Given the description of an element on the screen output the (x, y) to click on. 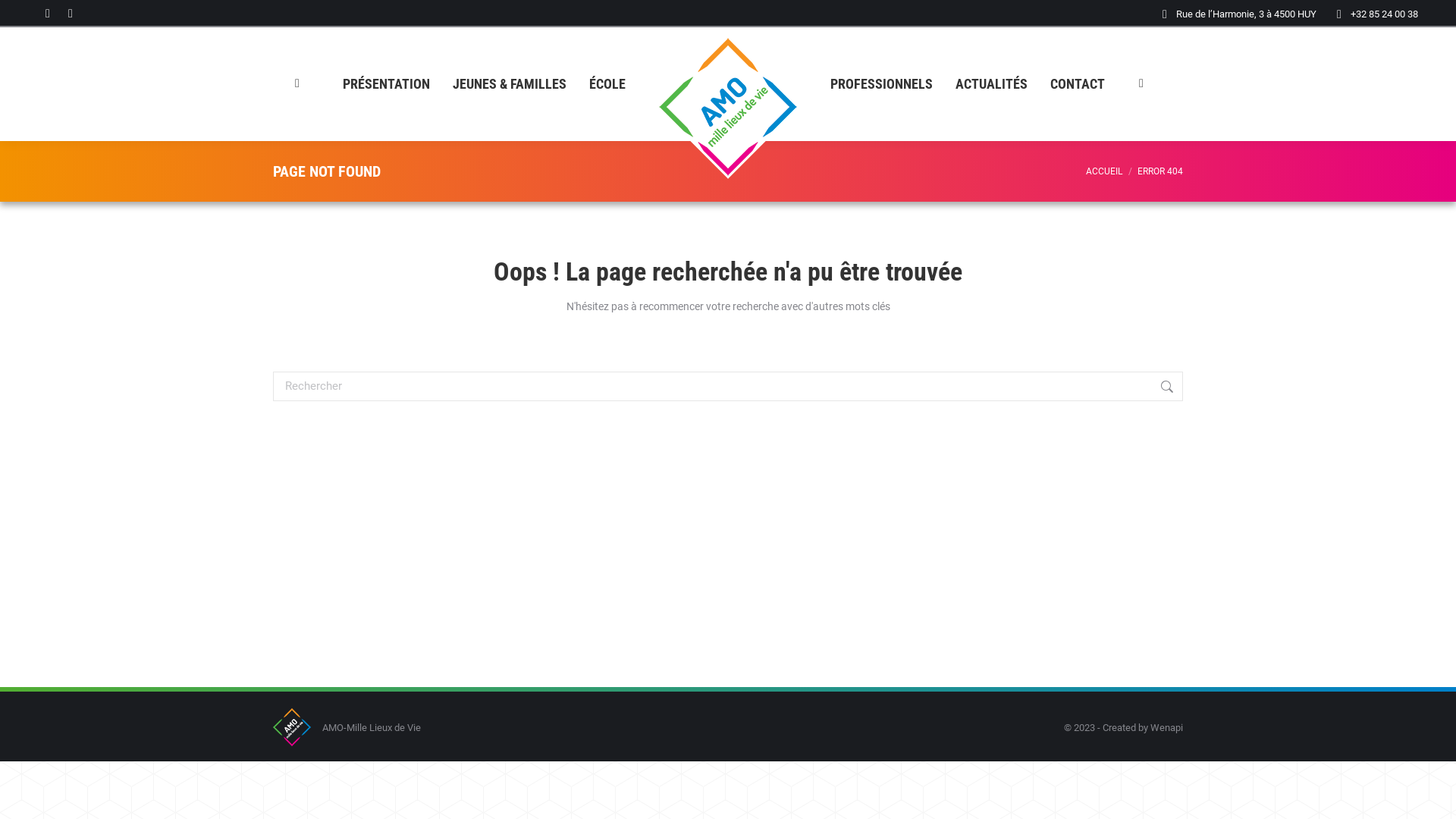
Instagram page opens in new window Element type: text (70, 13)
CONTACT Element type: text (1077, 83)
ACCUEIL Element type: text (1103, 171)
Wenapi Element type: text (1166, 727)
PROFESSIONNELS Element type: text (881, 83)
Rechercher Element type: hover (728, 386)
Facebook page opens in new window Element type: text (47, 13)
Go! Element type: text (22, 15)
Go! Element type: text (1205, 386)
JEUNES & FAMILLES Element type: text (509, 83)
